Given the description of an element on the screen output the (x, y) to click on. 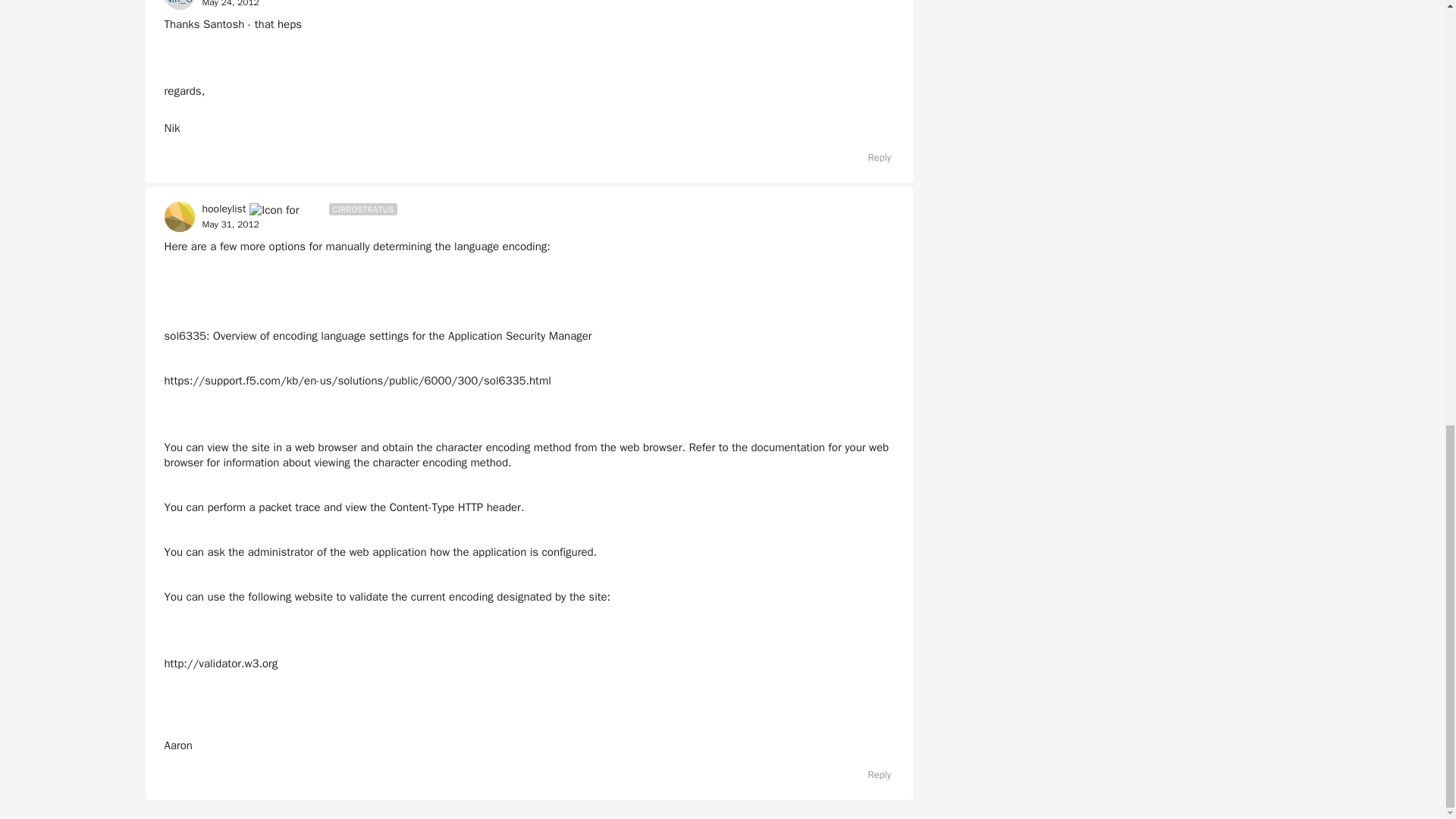
Reply (871, 774)
hooleylist (224, 209)
May 24, 2012 (230, 4)
Reply (871, 157)
May 24, 2012 at 3:19 PM (230, 4)
May 31, 2012 (230, 224)
May 31, 2012 at 6:01 PM (230, 224)
